Given the description of an element on the screen output the (x, y) to click on. 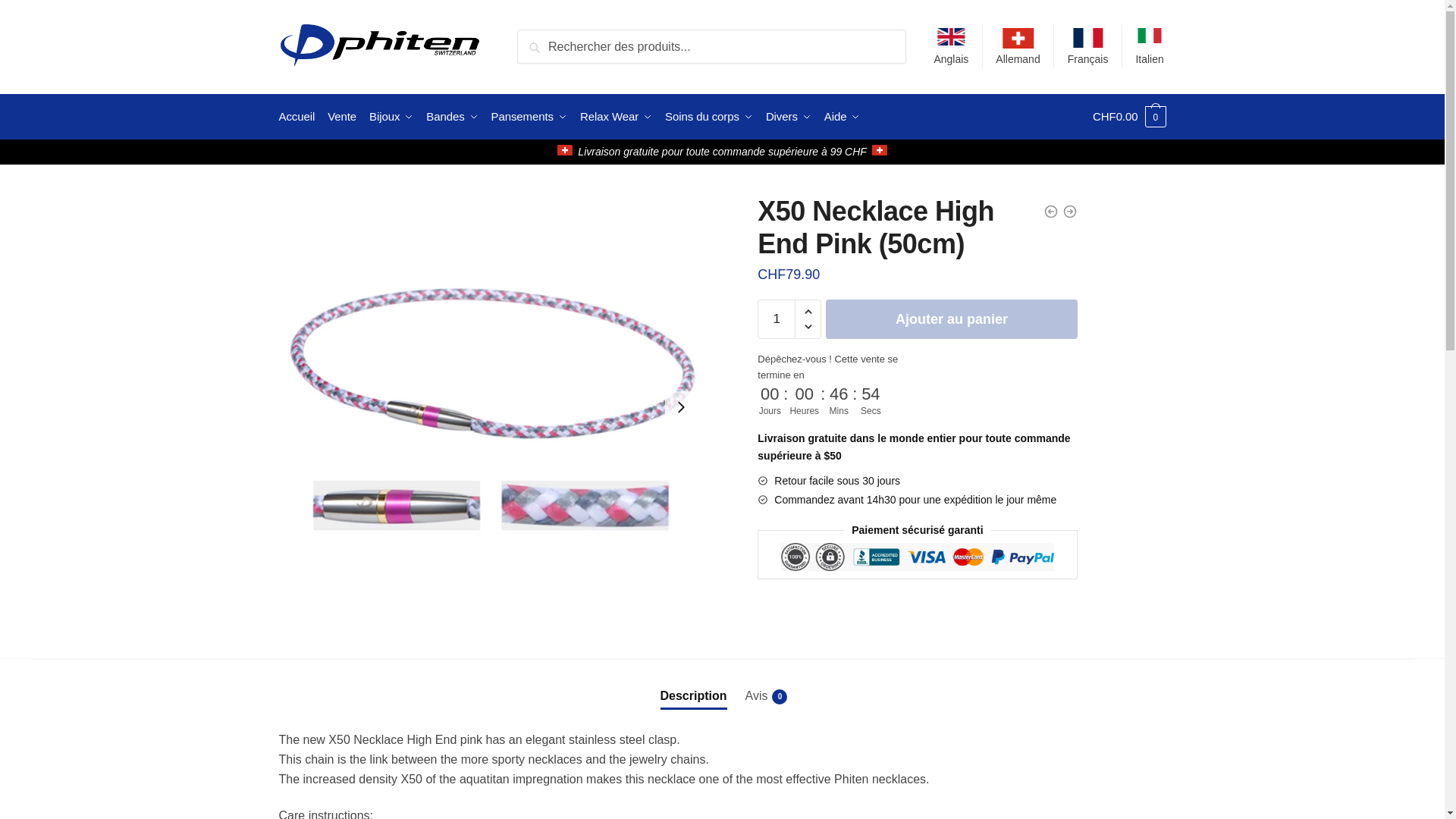
Relax Wear (616, 116)
Pansements (528, 116)
Recherche (550, 39)
Bandes (452, 116)
Anglais (950, 45)
Vente (341, 116)
Accueil (300, 116)
1 (775, 319)
Voir votre panier d'achat (1129, 116)
Bijoux (391, 116)
Allemand (1018, 45)
Italien (1149, 45)
